Given the description of an element on the screen output the (x, y) to click on. 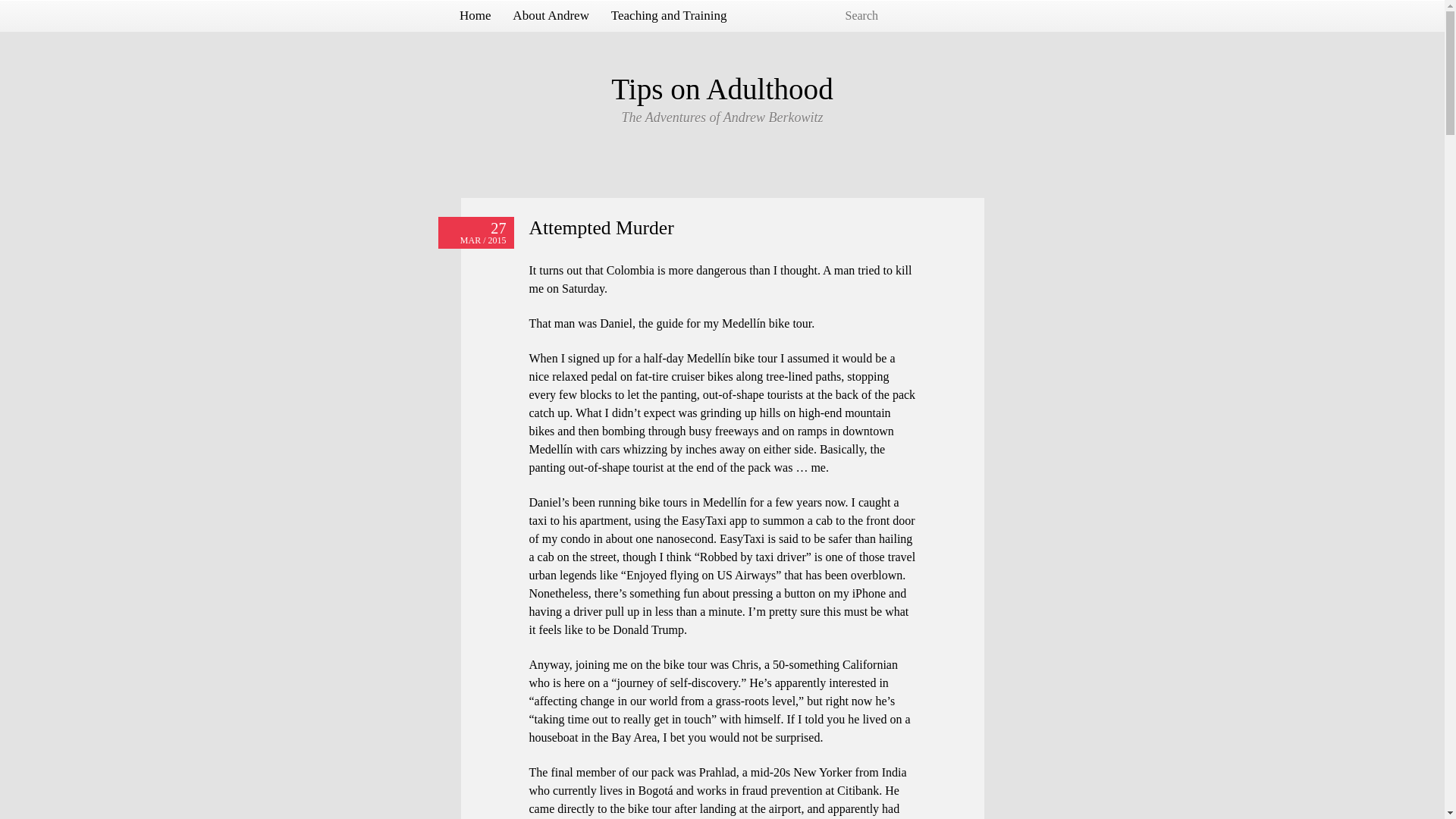
Tips on Adulthood (721, 88)
Home (475, 15)
Permalink to Attempted Murder (475, 232)
Tips on Adulthood (721, 88)
About Andrew (550, 15)
Teaching and Training (668, 15)
